Given the description of an element on the screen output the (x, y) to click on. 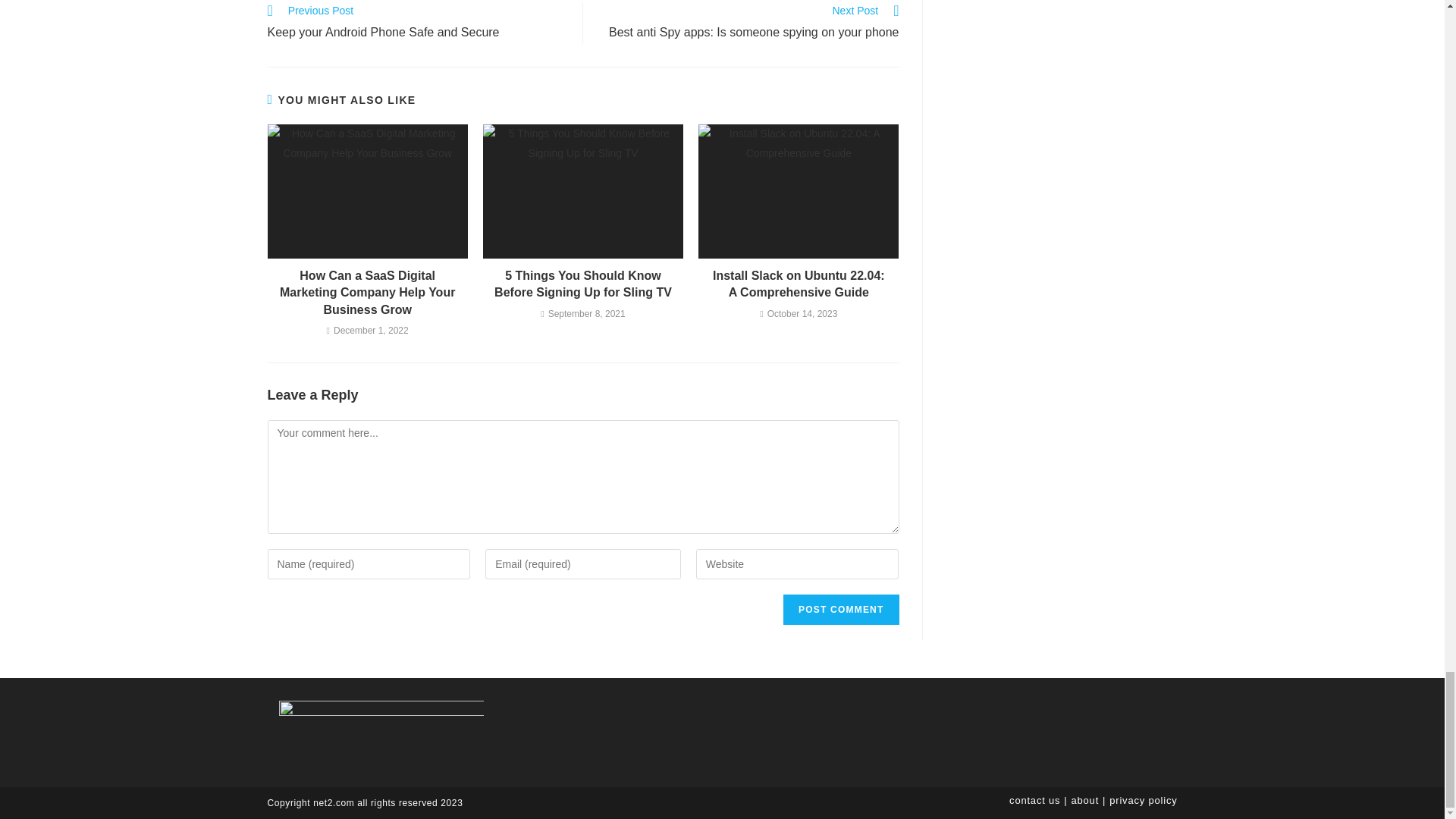
5 Things You Should Know Before Signing Up for Sling TV (583, 284)
Post Comment (840, 609)
Install Slack on Ubuntu 22.04: A Comprehensive Guide (798, 284)
